Given the description of an element on the screen output the (x, y) to click on. 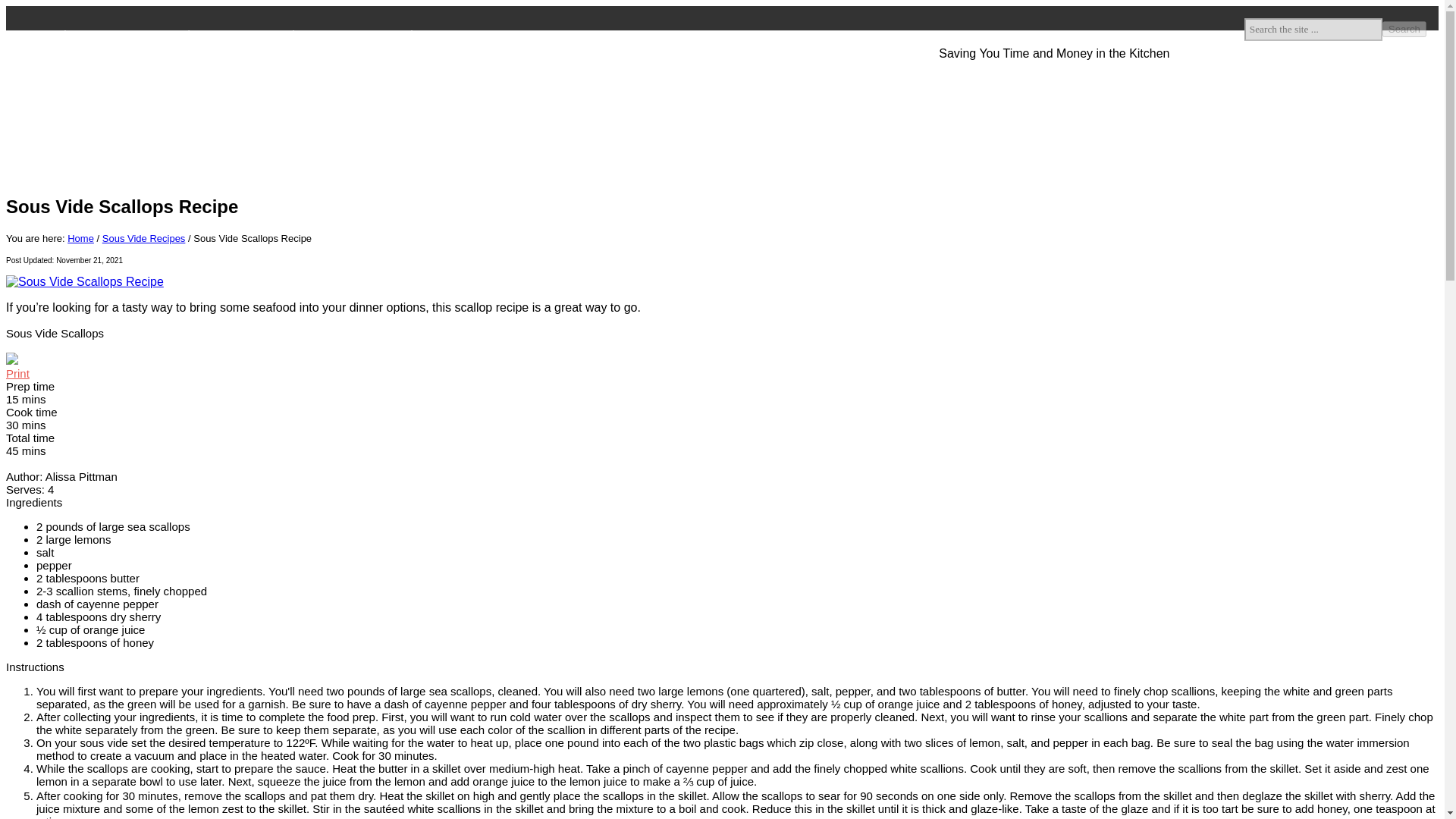
TOP 10 PRODUCTS (352, 34)
Home (80, 238)
Search (1403, 28)
BUYING GUIDES (240, 34)
HOME (39, 34)
Print (17, 373)
RECIPES (444, 34)
PRODUCT REVIEWS (126, 34)
Search (1403, 28)
Sous Vide Scallops Recipe (84, 281)
Cooking Hacks (469, 95)
Search (1403, 28)
Sous Vide Recipes (143, 238)
